Given the description of an element on the screen output the (x, y) to click on. 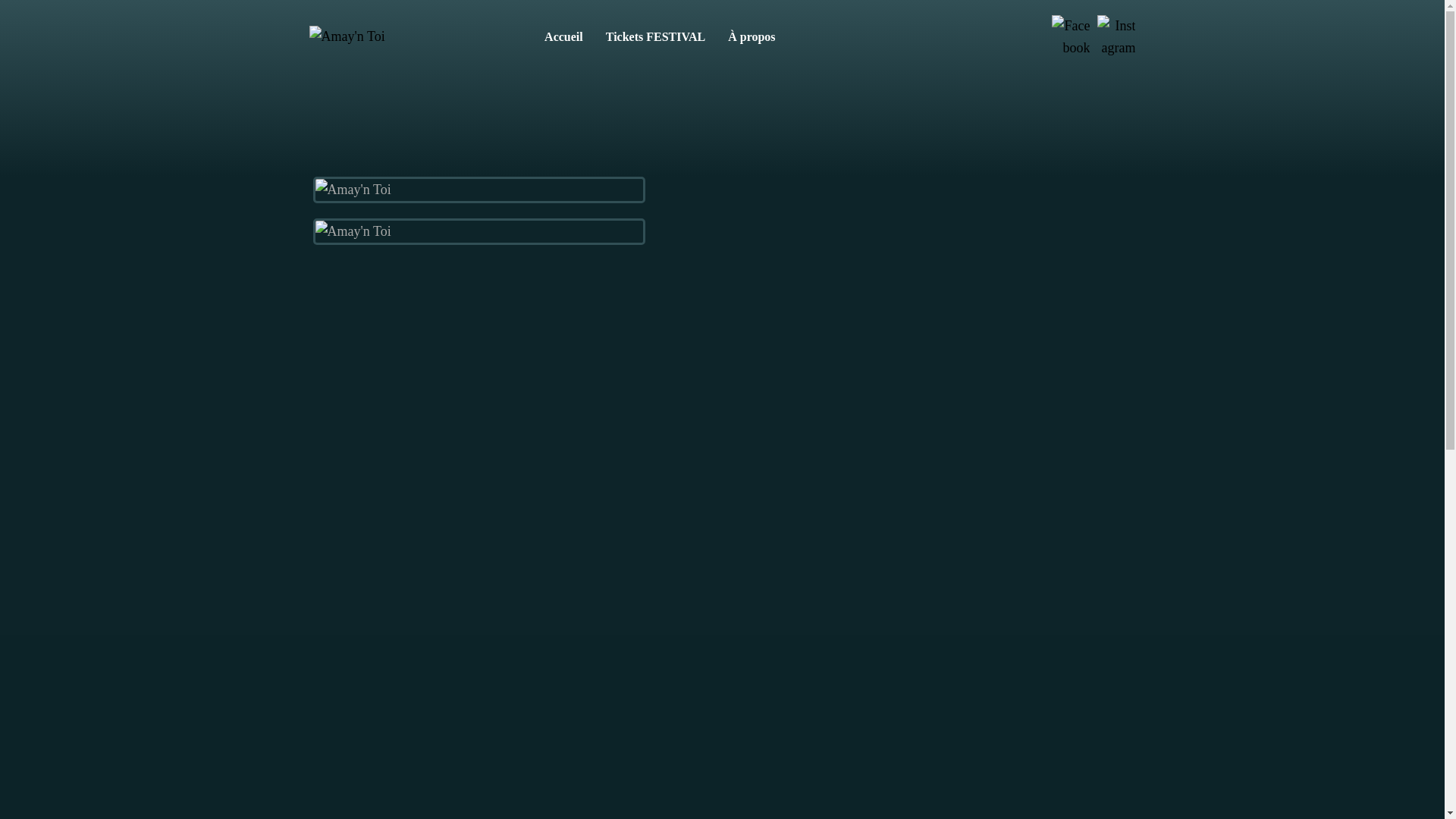
Tickets FESTIVAL Element type: text (655, 36)
Accueil Element type: text (563, 36)
